Given the description of an element on the screen output the (x, y) to click on. 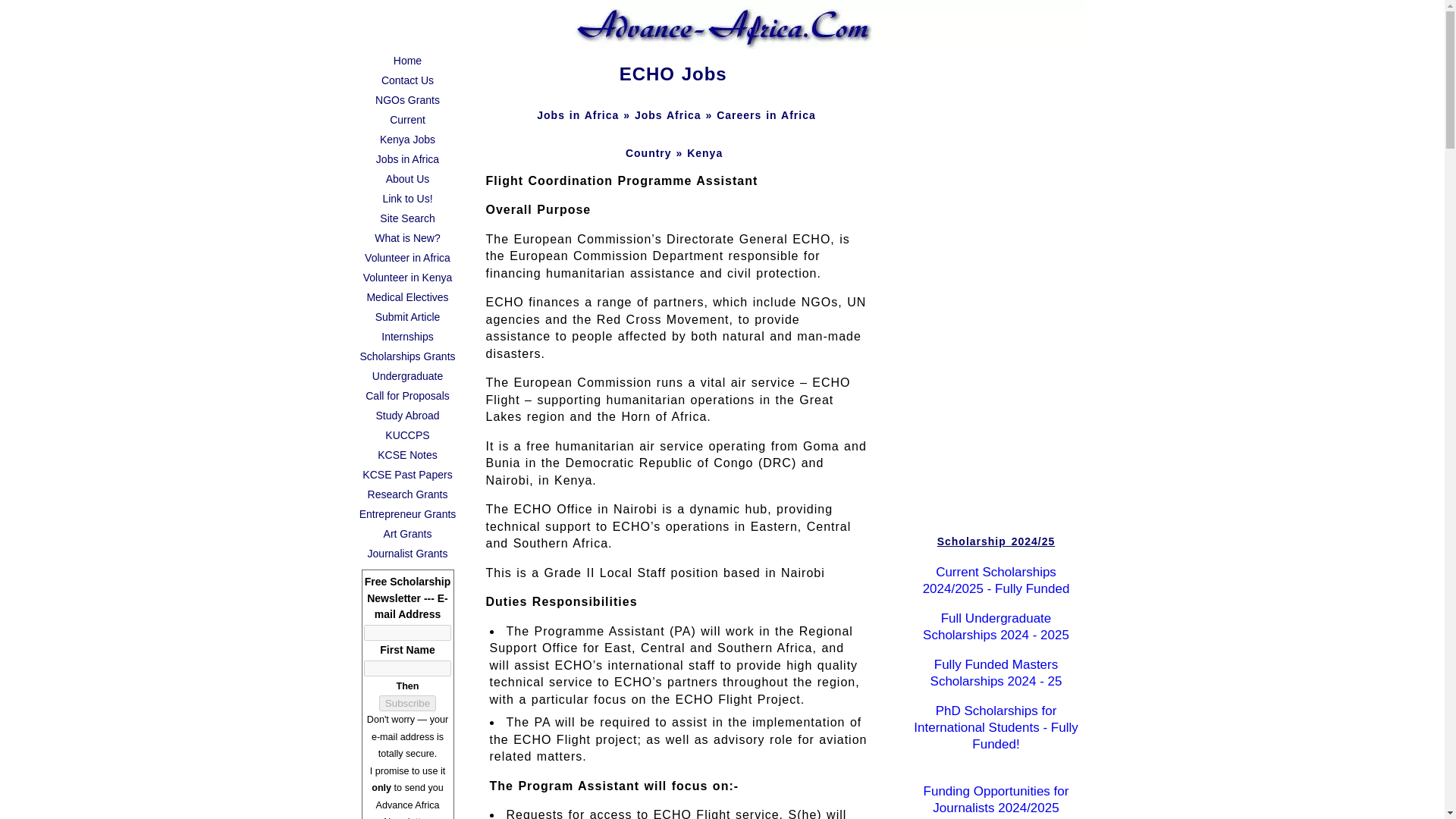
Current Scholarships (407, 119)
Medical Electives (407, 297)
What is New? (407, 238)
Home (407, 60)
Research Grants (407, 494)
Kenya Jobs (407, 139)
Study Abroad (407, 415)
Submit Article (407, 316)
Jobs in Africa (407, 158)
NGOs Grants (407, 99)
